Given the description of an element on the screen output the (x, y) to click on. 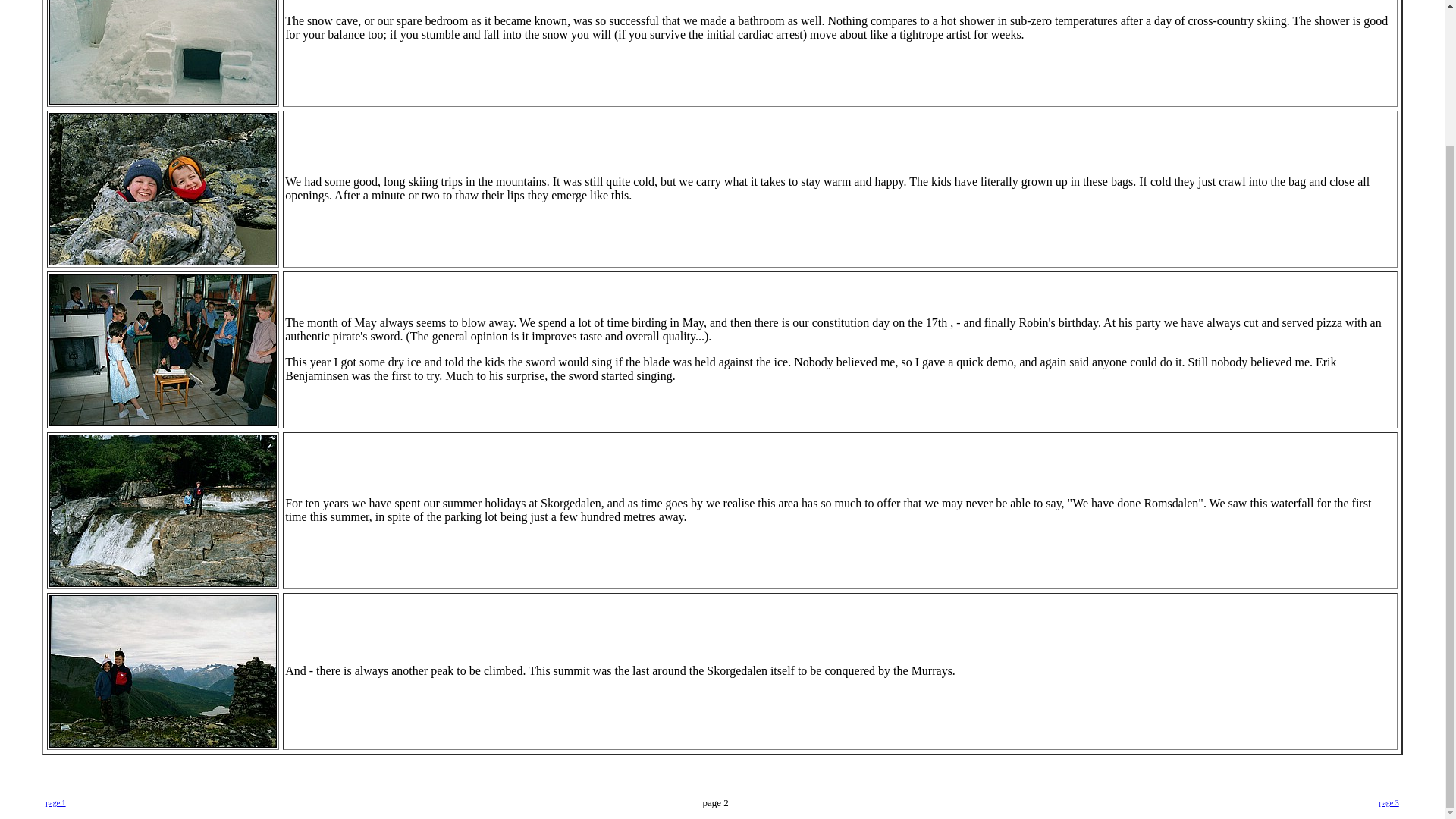
page 3 (1387, 800)
page 1 (55, 800)
